Given the description of an element on the screen output the (x, y) to click on. 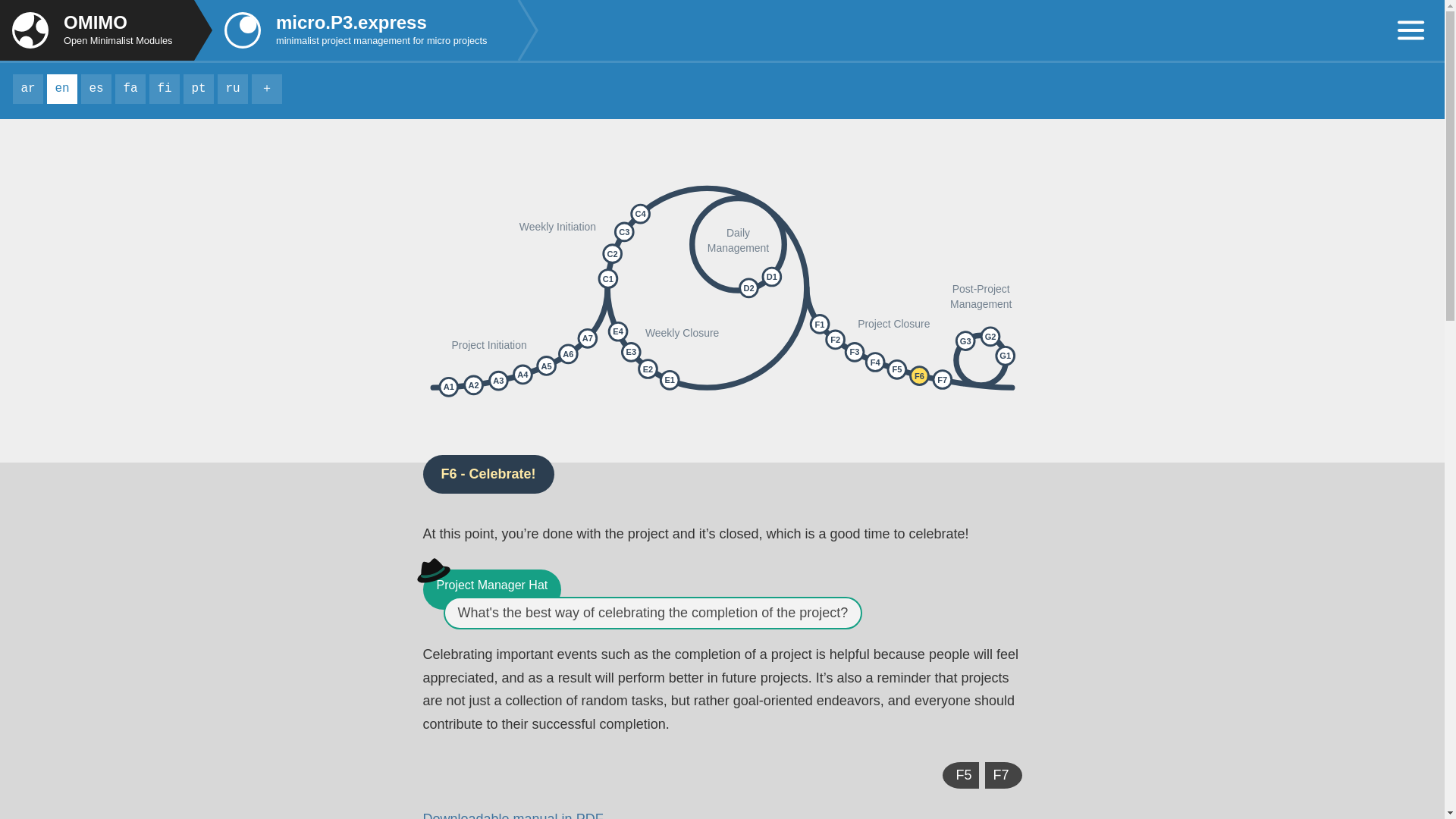
fi (164, 89)
Translation Guide (266, 89)
es (96, 89)
Downloadable manual in PDF (513, 815)
ru (231, 89)
F5 (960, 775)
next activity (106, 30)
pt (1003, 775)
Suomi (198, 89)
previous activity (164, 89)
F7 (106, 30)
